Given the description of an element on the screen output the (x, y) to click on. 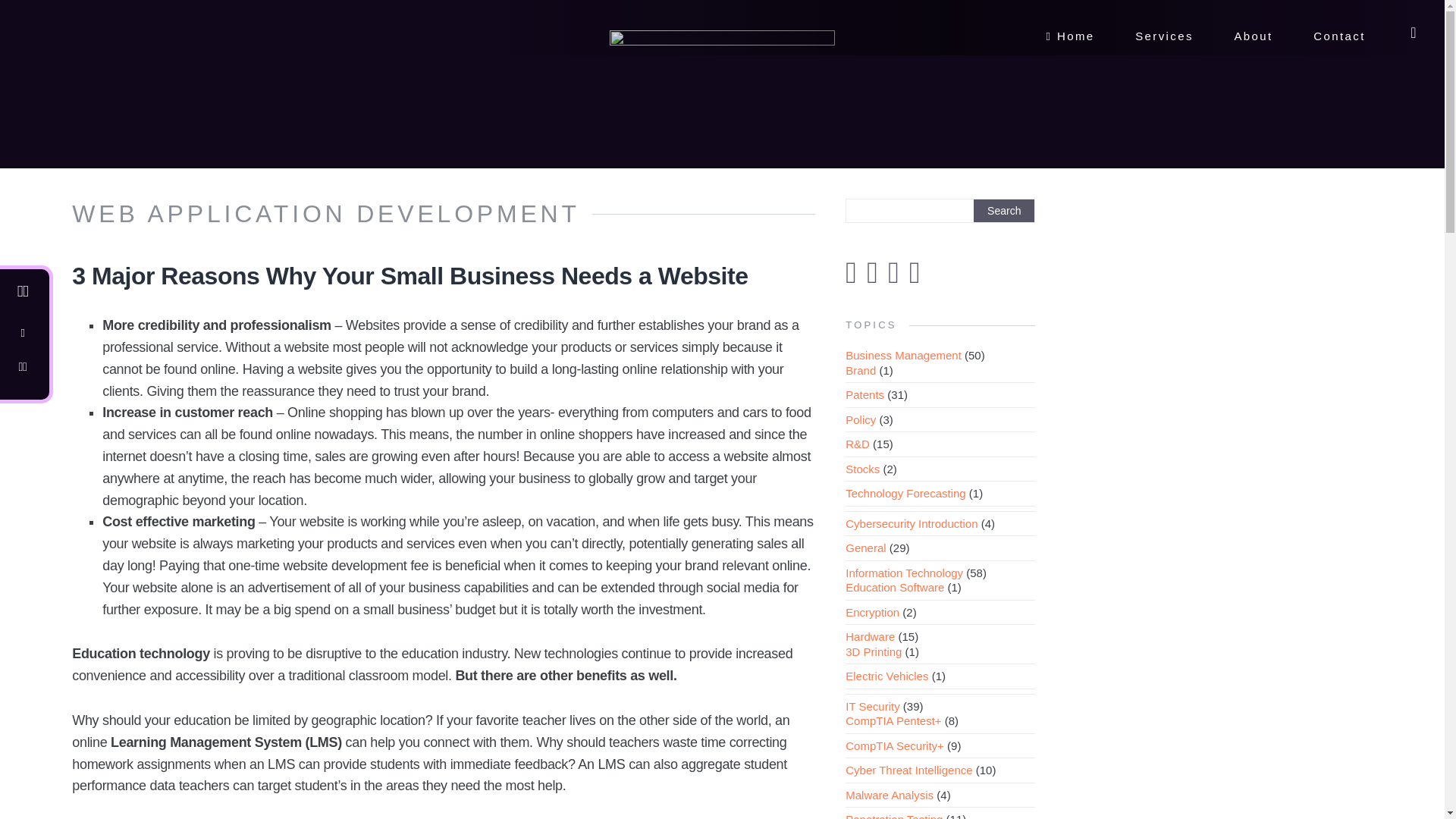
About (1253, 40)
Home (1069, 40)
Contact (1339, 40)
Services (1164, 40)
Search (1003, 210)
Search (1003, 210)
